Given the description of an element on the screen output the (x, y) to click on. 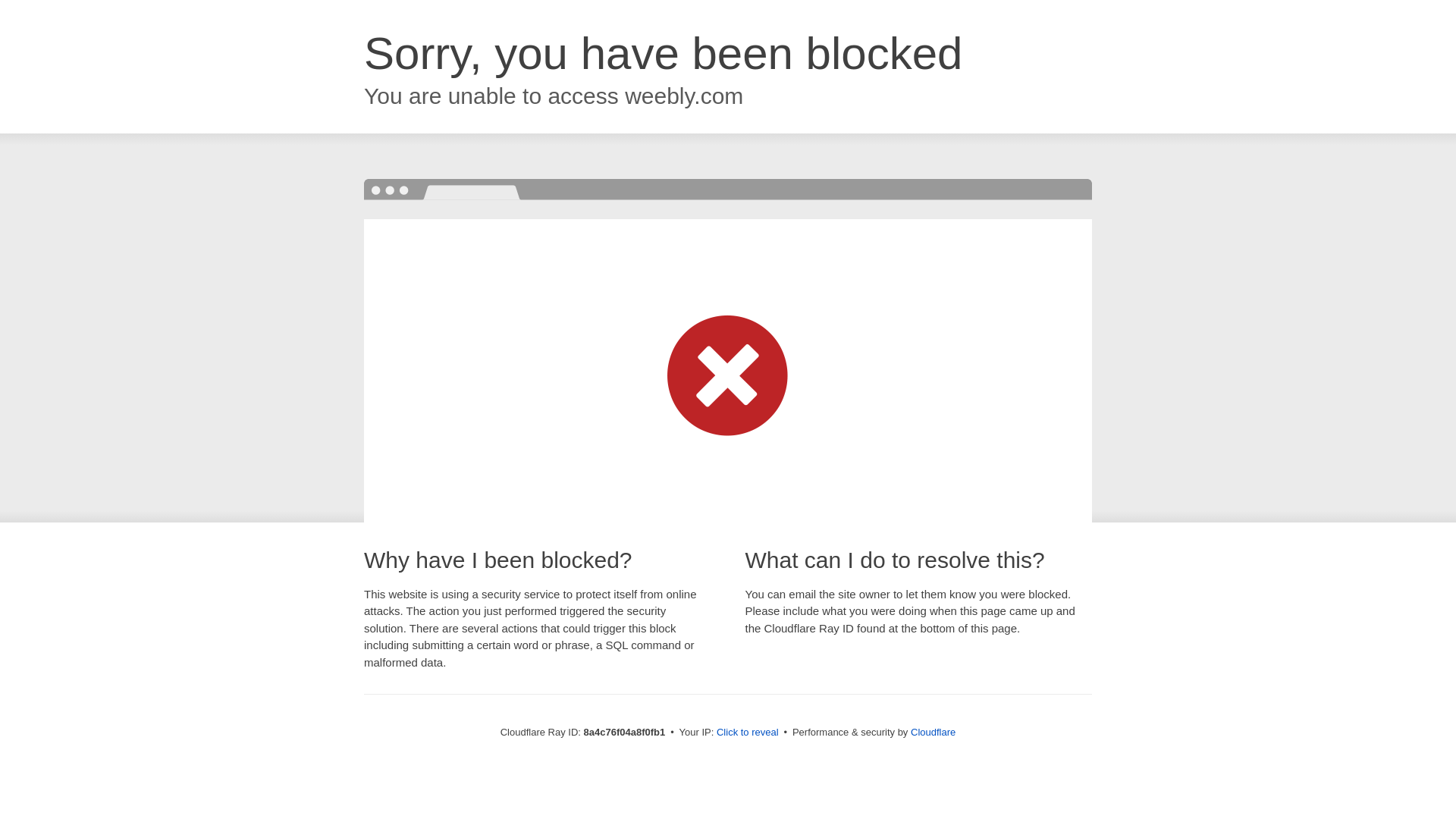
Cloudflare (933, 731)
Click to reveal (747, 732)
